Given the description of an element on the screen output the (x, y) to click on. 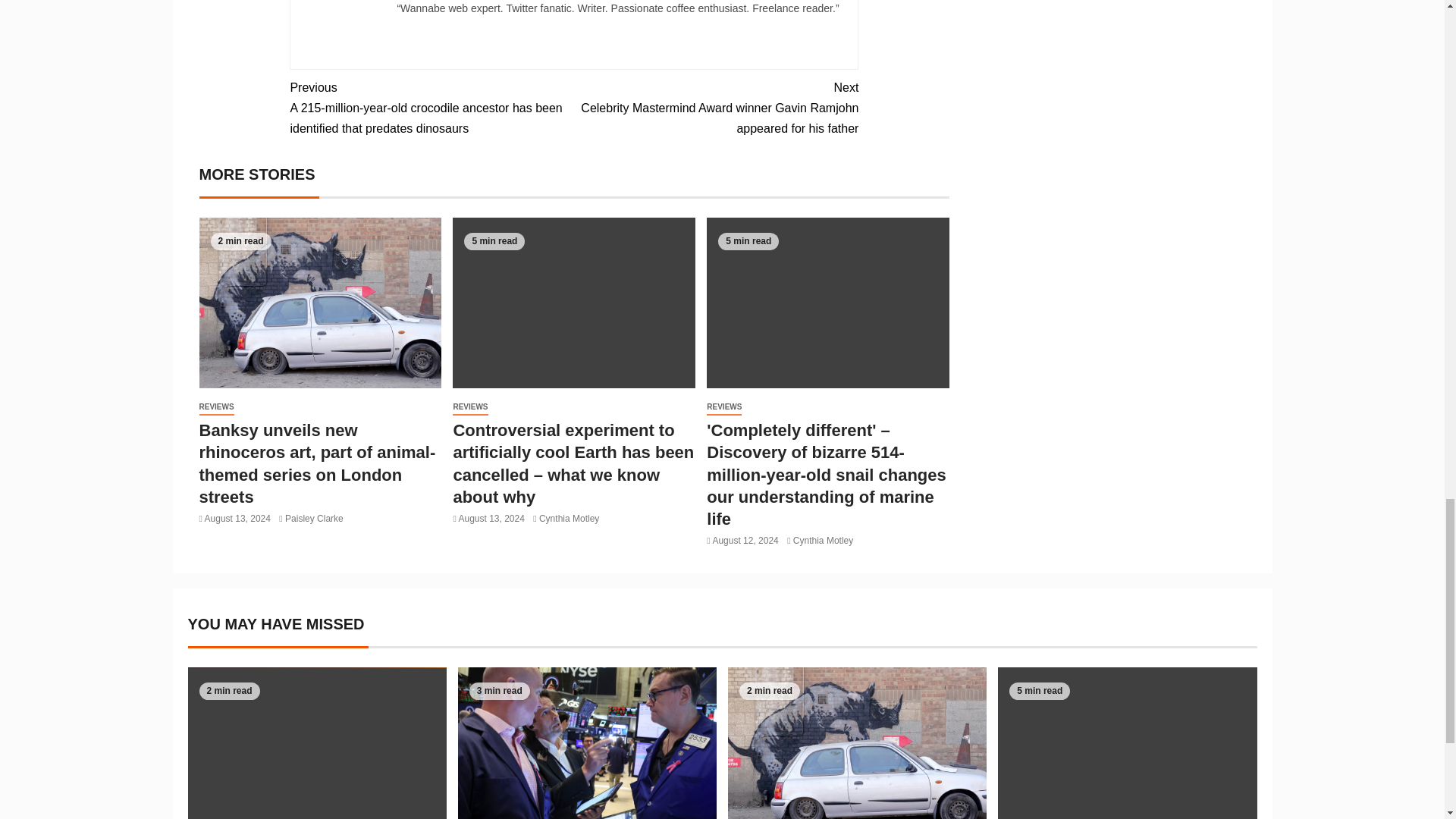
Cynthia Motley (568, 518)
Paisley Clarke (314, 518)
REVIEWS (469, 407)
REVIEWS (215, 407)
